Given the description of an element on the screen output the (x, y) to click on. 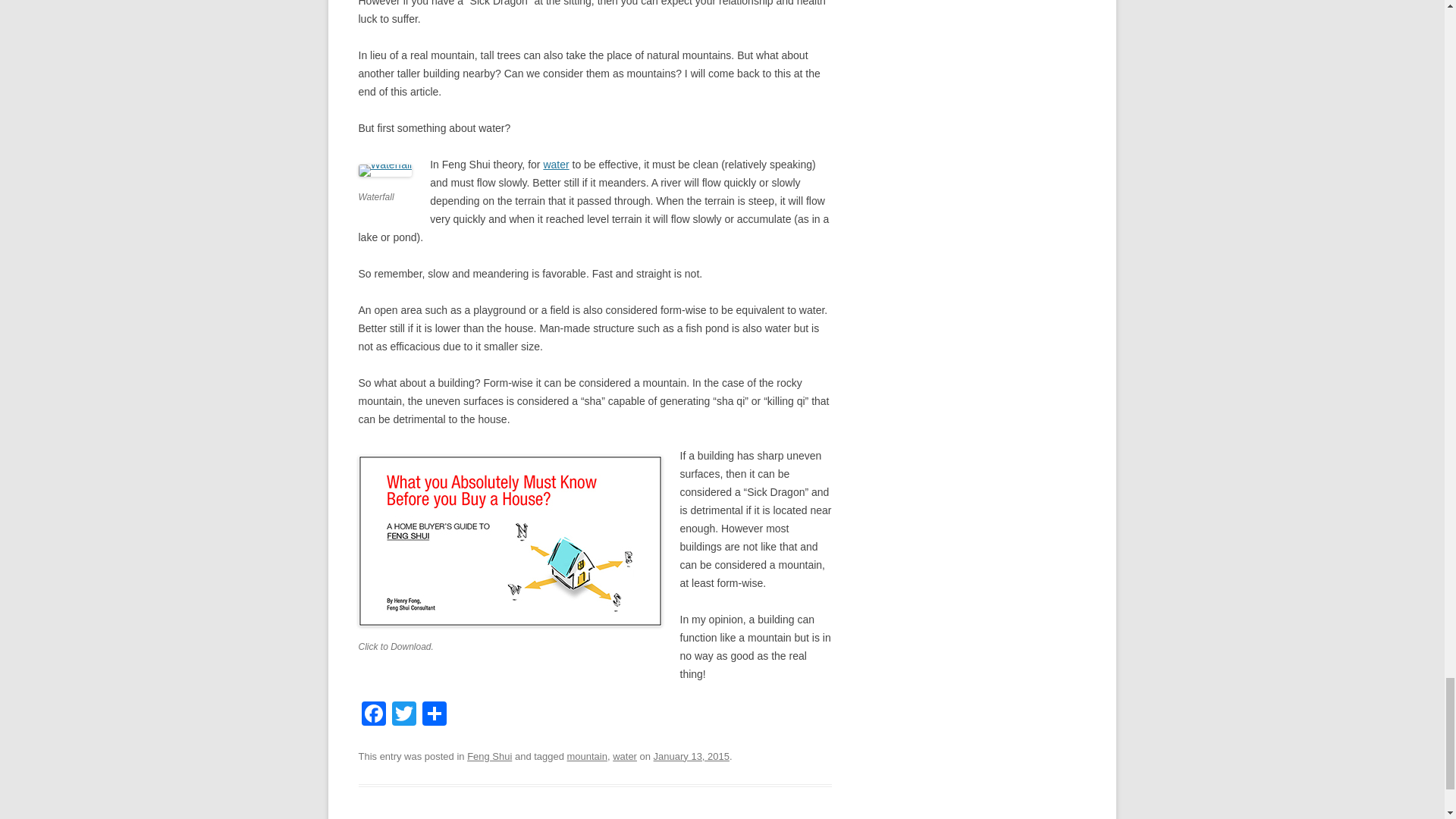
Water and Wealth (556, 164)
